Given the description of an element on the screen output the (x, y) to click on. 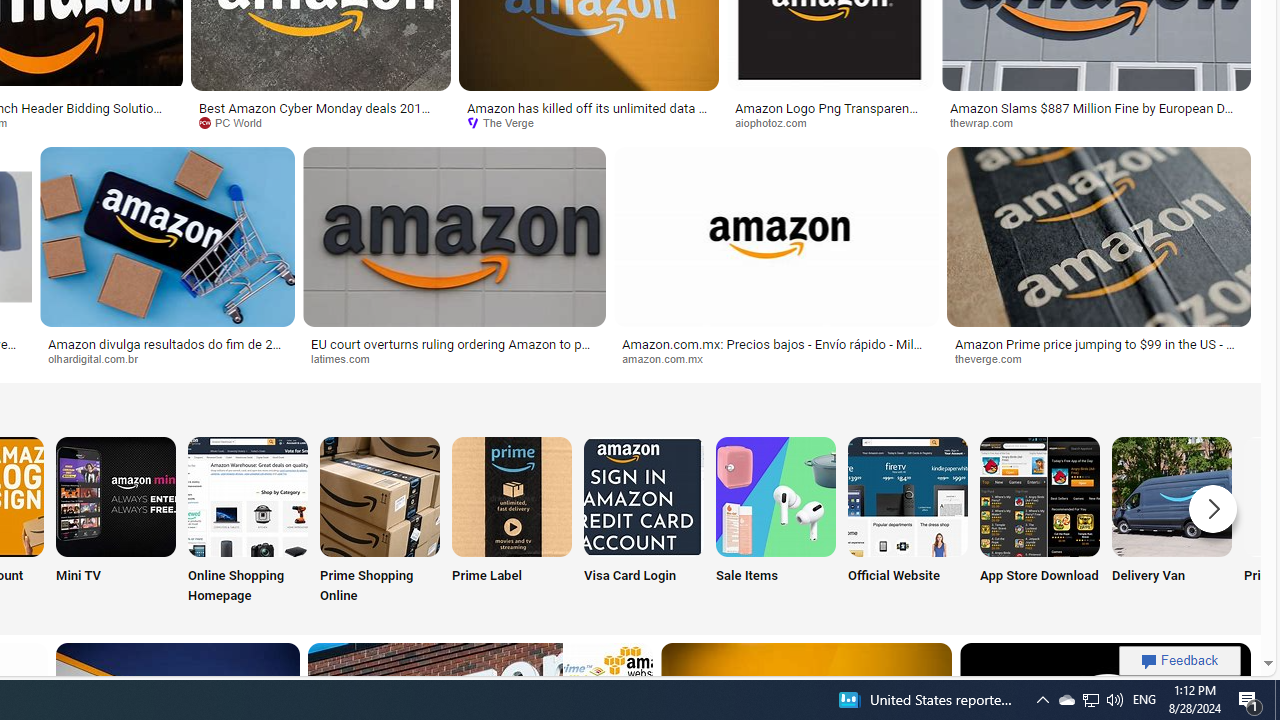
Prime Shopping Online (380, 521)
Online Shopping Homepage (248, 521)
aiophotoz.com (829, 123)
Best Amazon Cyber Monday deals 2019 | PCWorld (320, 114)
Amazon Online Shopping Homepage (248, 496)
thewrap.com (1095, 123)
